Given the description of an element on the screen output the (x, y) to click on. 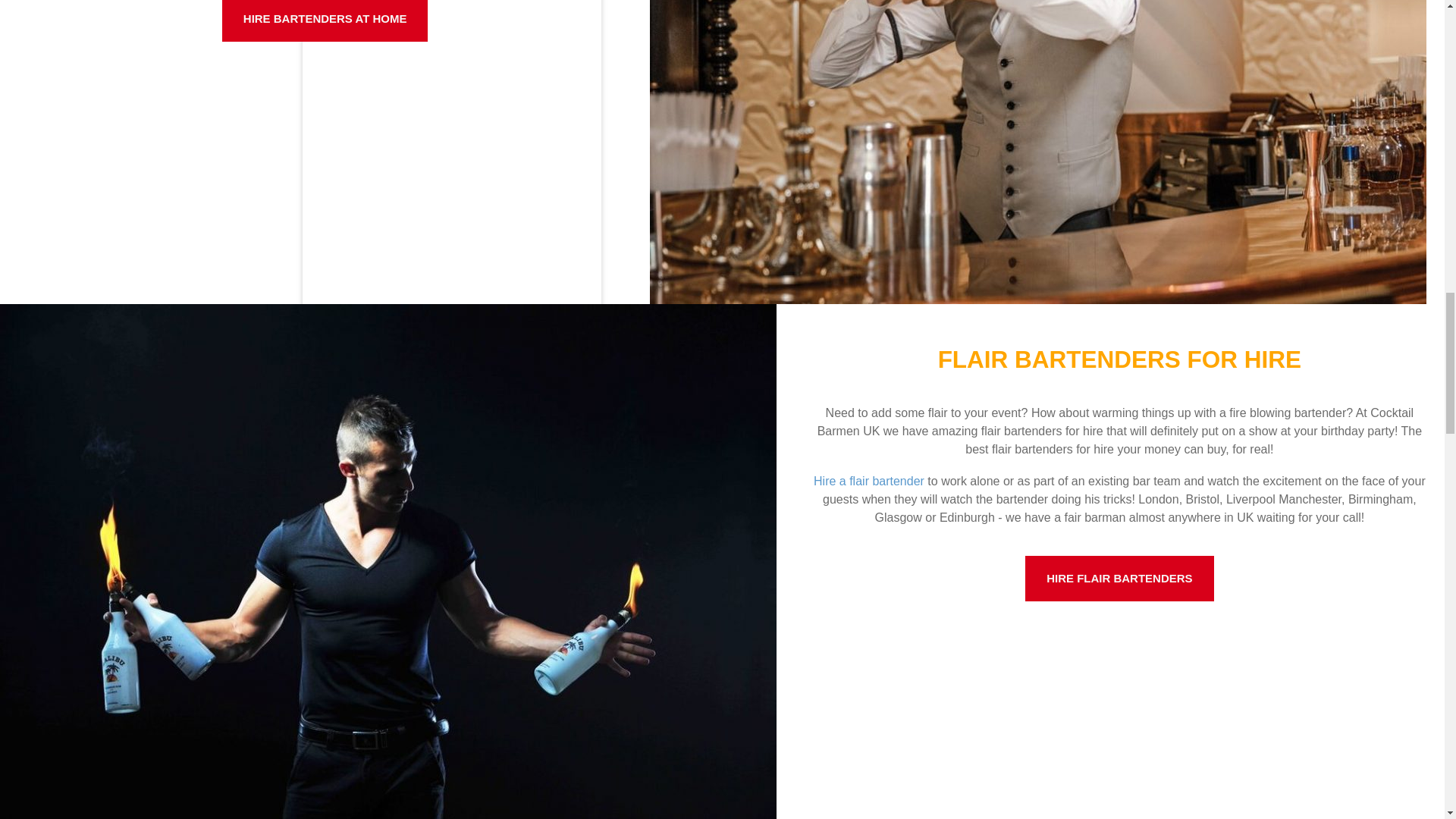
HIRE BARTENDERS AT HOME (325, 21)
Hire a flair bartender (868, 481)
HIRE FLAIR BARTENDERS (1118, 578)
